Given the description of an element on the screen output the (x, y) to click on. 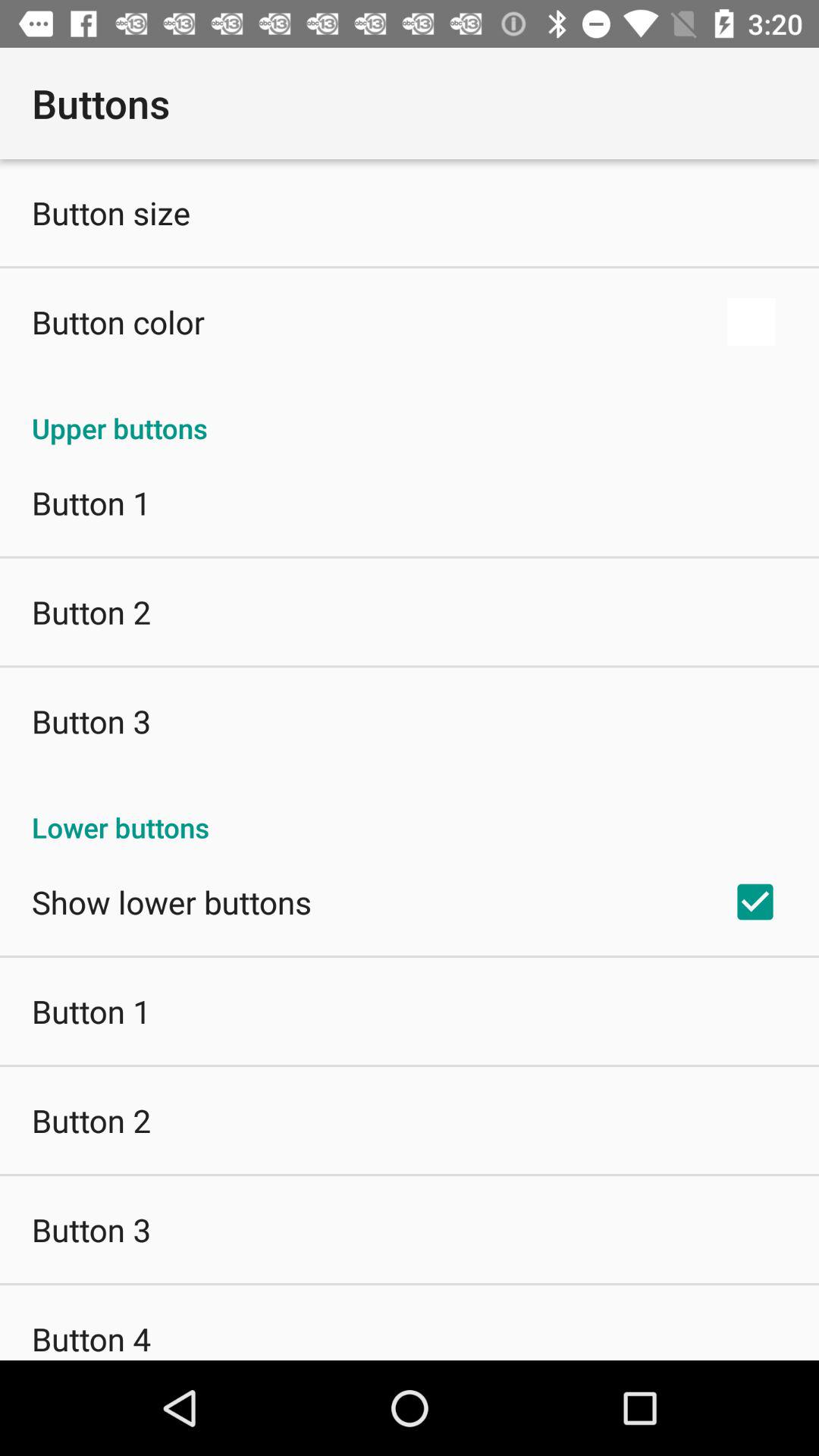
turn on the app below the lower buttons icon (755, 901)
